Given the description of an element on the screen output the (x, y) to click on. 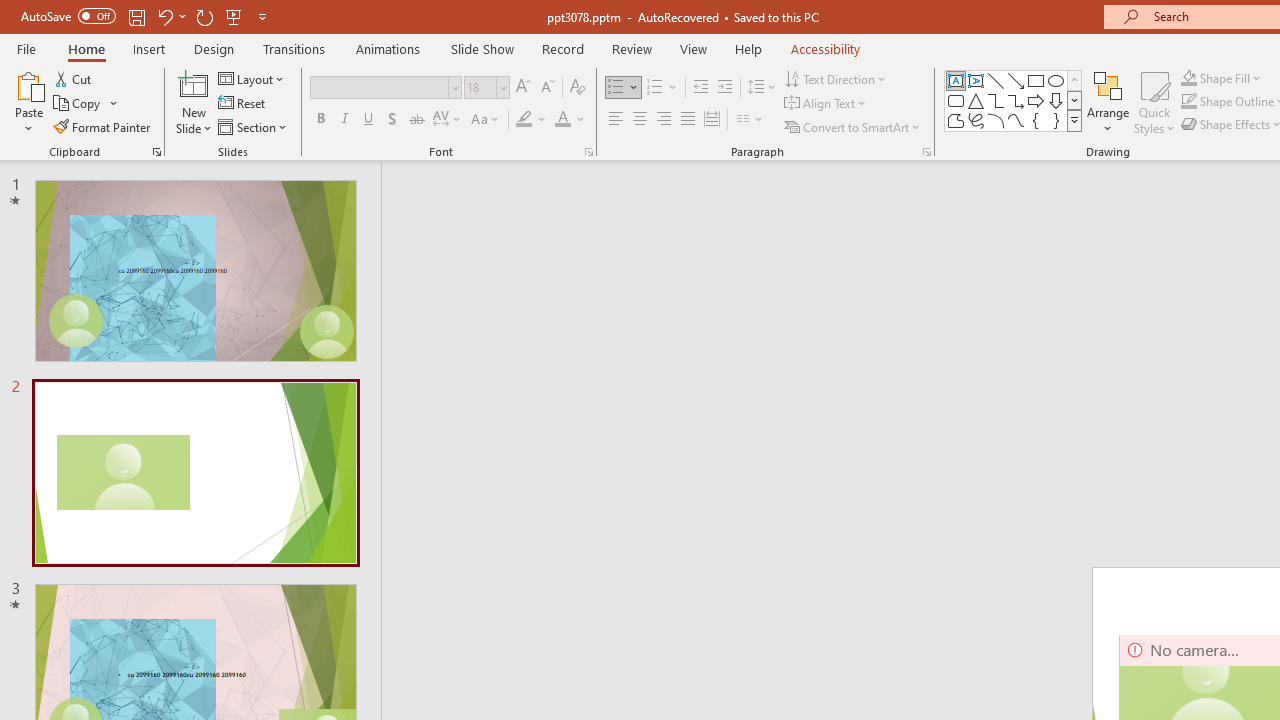
Shape Fill Dark Green, Accent 2 (1188, 78)
